Given the description of an element on the screen output the (x, y) to click on. 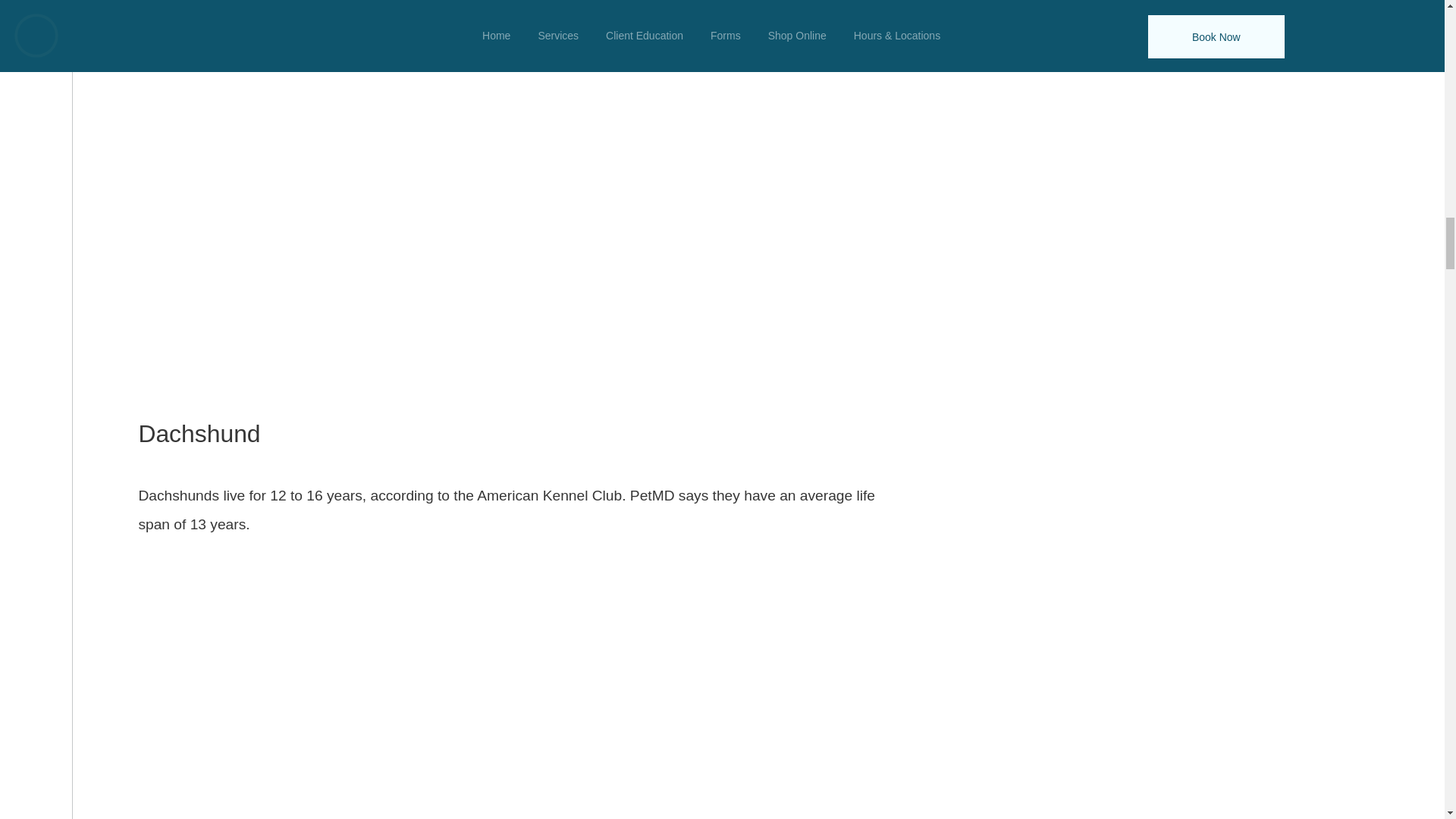
The 25 Dog Breeds With Longest Life Spans 8 (512, 682)
